Given the description of an element on the screen output the (x, y) to click on. 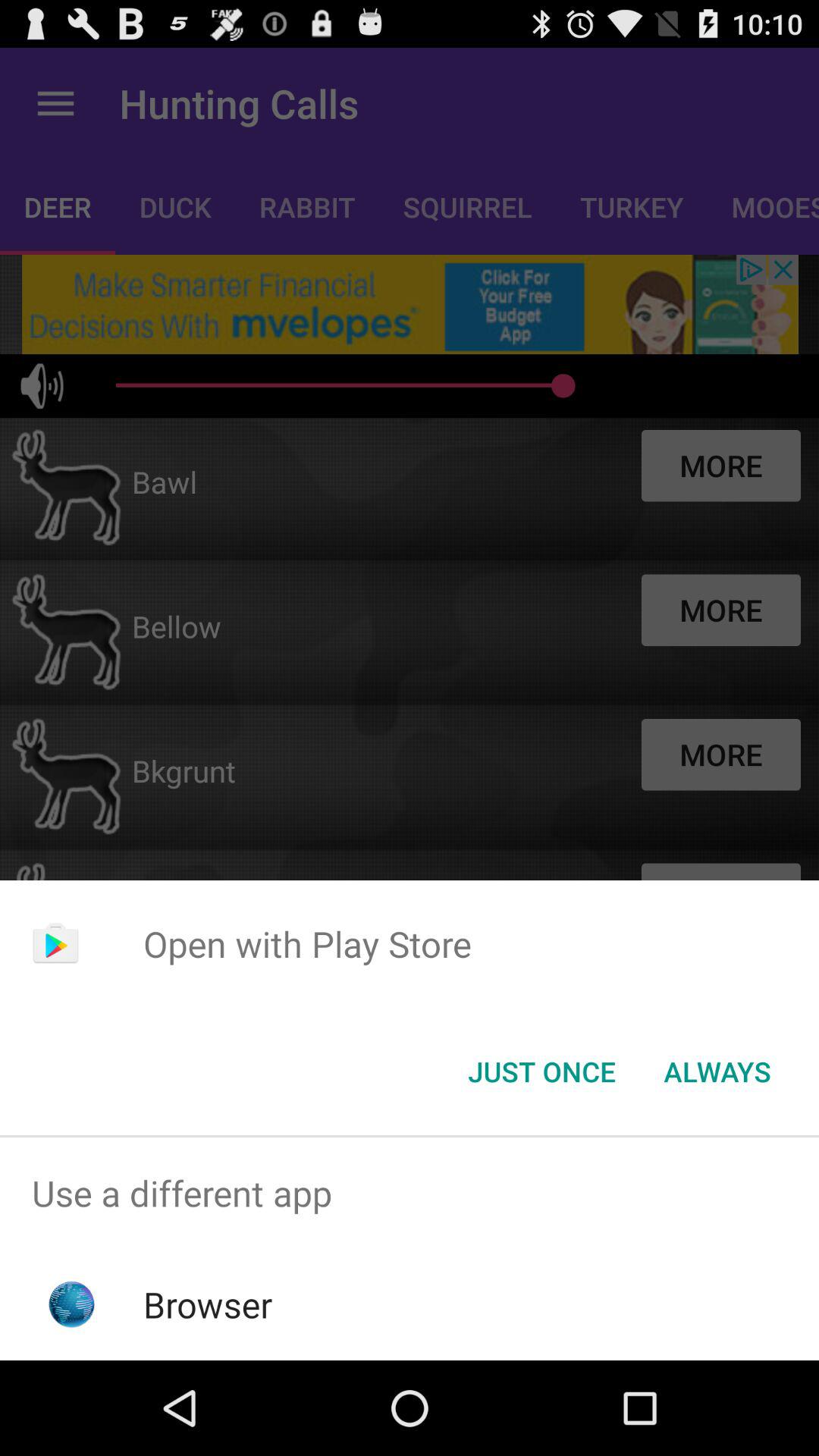
tap browser icon (207, 1304)
